Given the description of an element on the screen output the (x, y) to click on. 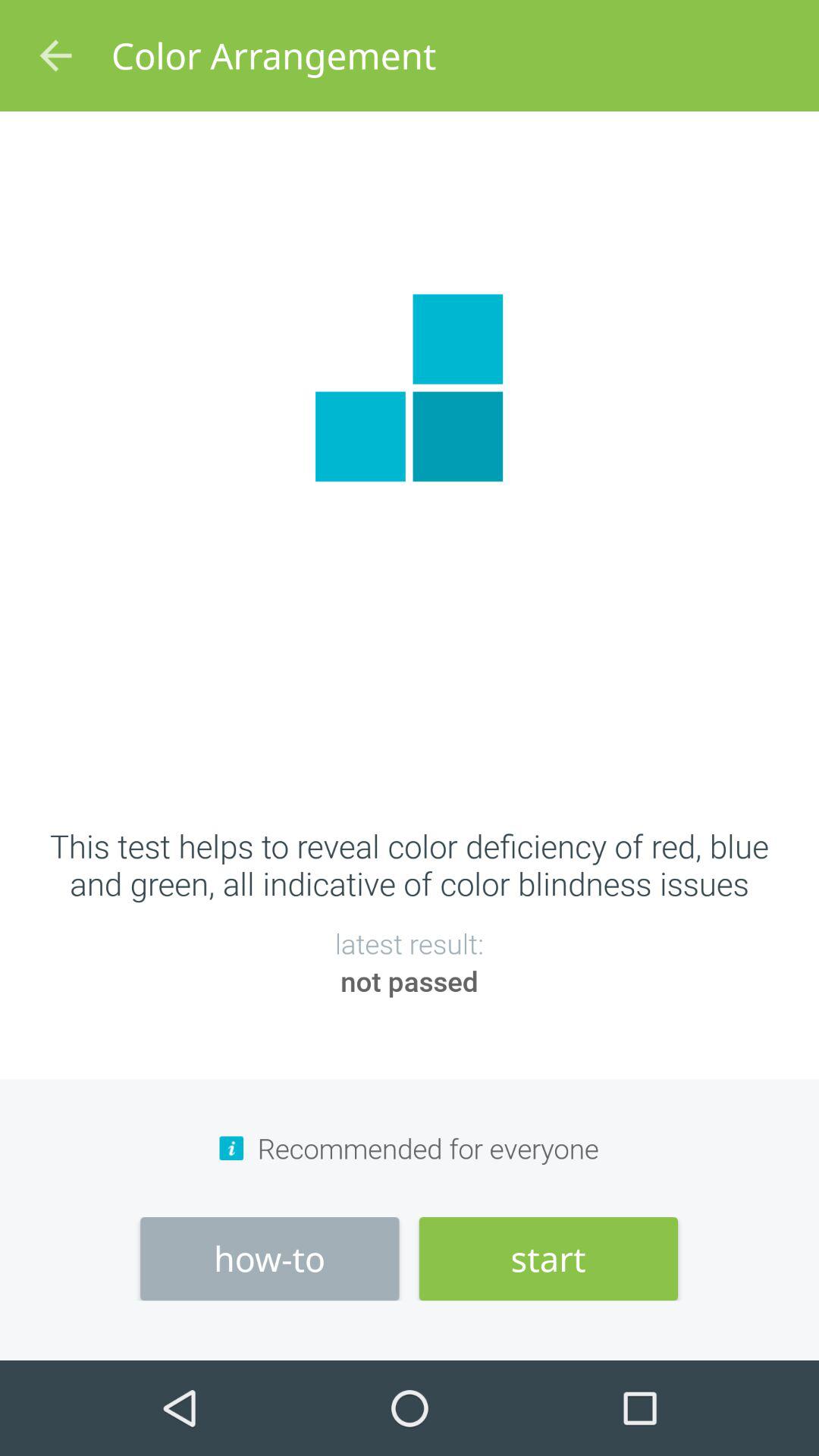
tap the icon below the recommended for everyone item (269, 1258)
